Given the description of an element on the screen output the (x, y) to click on. 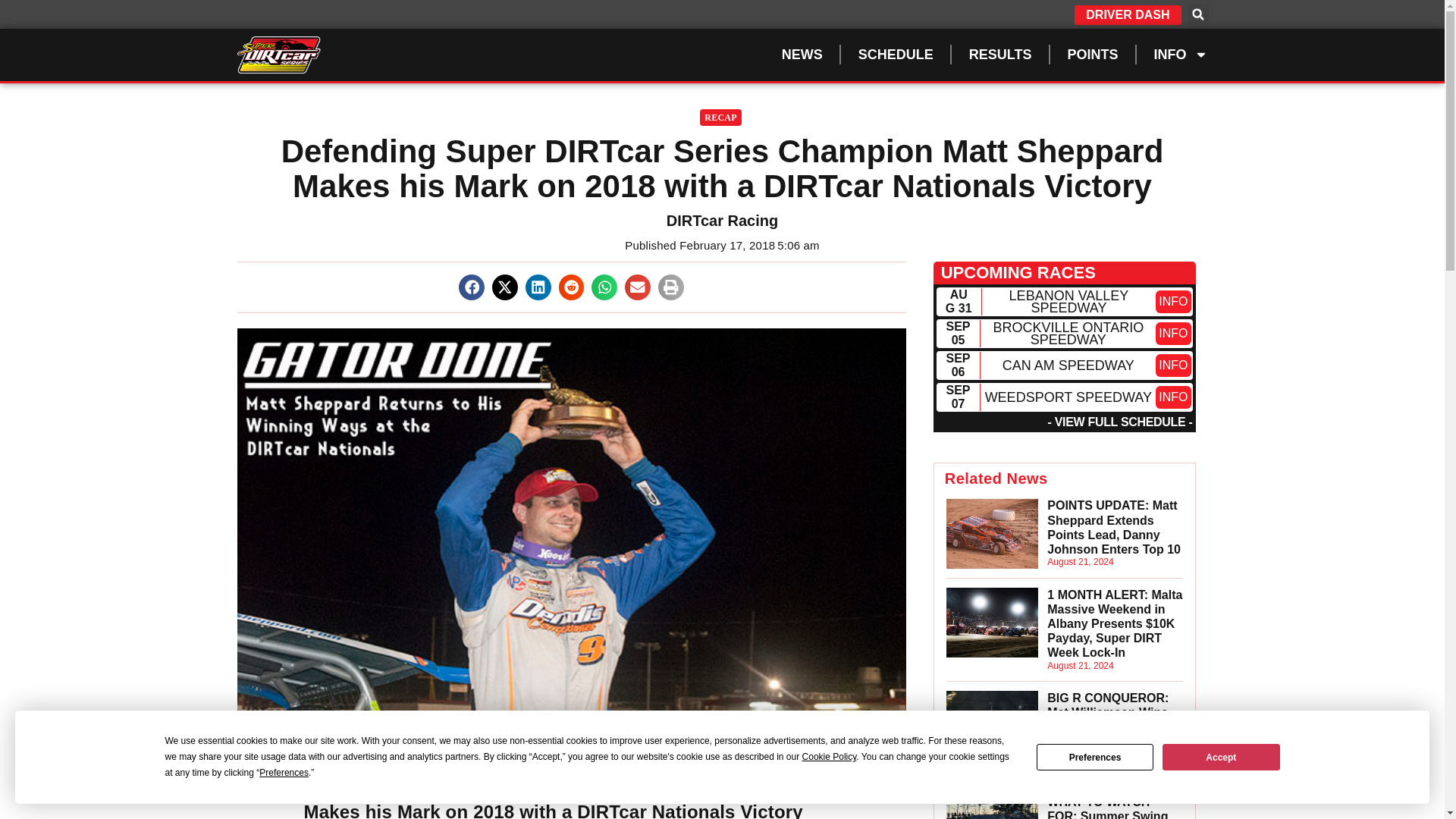
INFO (1173, 364)
Published February 17, 2018 (699, 245)
SCHEDULE (895, 53)
POINTS (1092, 53)
DRIVER DASH (1127, 14)
Accept (1220, 756)
INFO (1181, 53)
VIEW FULL SCHEDULE (1120, 421)
Preferences (1094, 756)
